Given the description of an element on the screen output the (x, y) to click on. 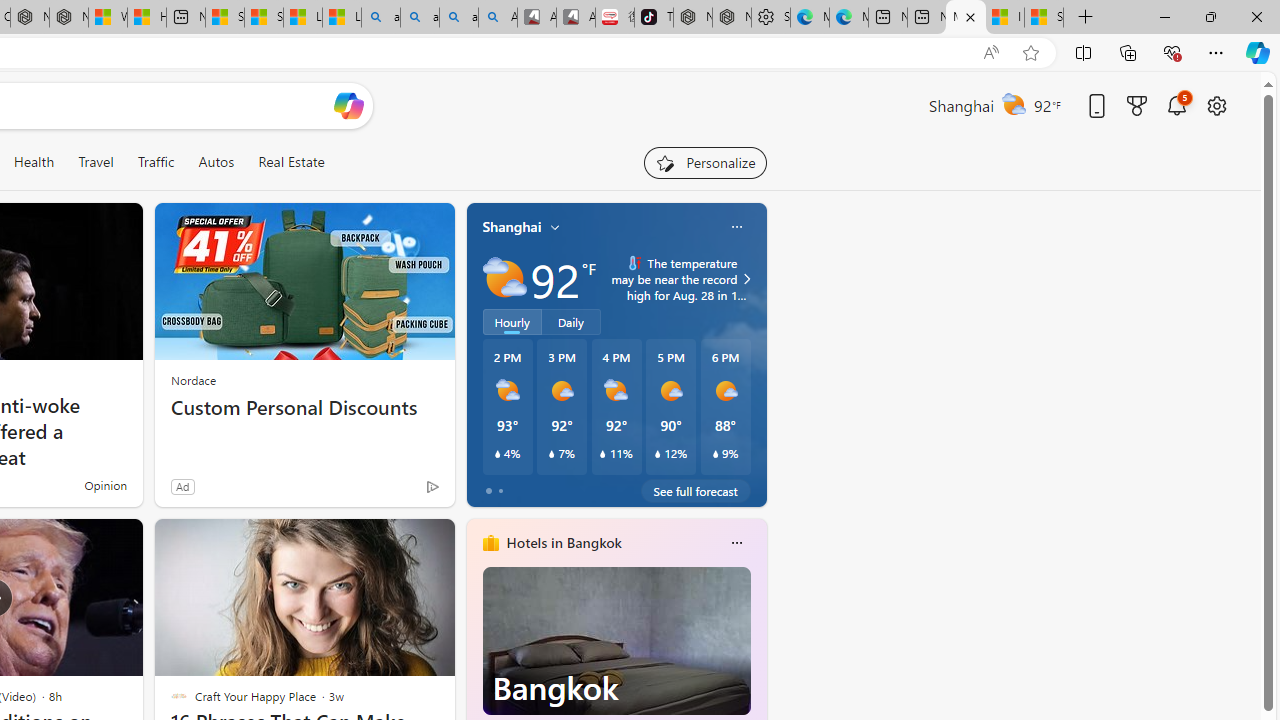
Class: weather-arrow-glyph (746, 278)
Partly sunny (504, 278)
Class: icon-img (736, 542)
Autos (215, 161)
Traffic (155, 161)
Microsoft rewards (1137, 105)
Health (34, 161)
tab-0 (488, 490)
